Given the description of an element on the screen output the (x, y) to click on. 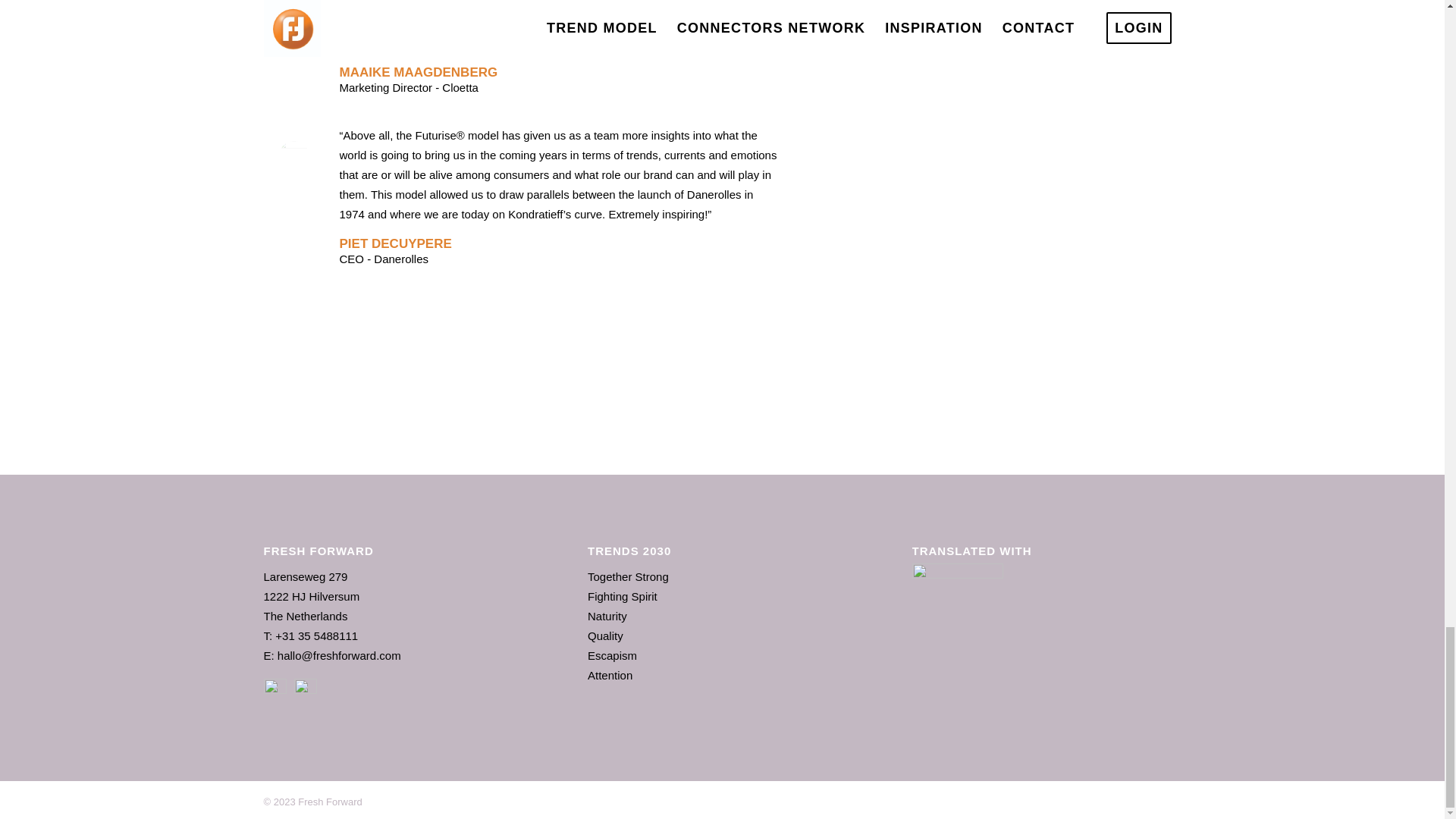
Escapism (612, 655)
Together Strong (628, 576)
Naturity (607, 615)
Attention (609, 675)
Translated with (957, 578)
Fighting Spirit (623, 595)
Quality (605, 635)
